Given the description of an element on the screen output the (x, y) to click on. 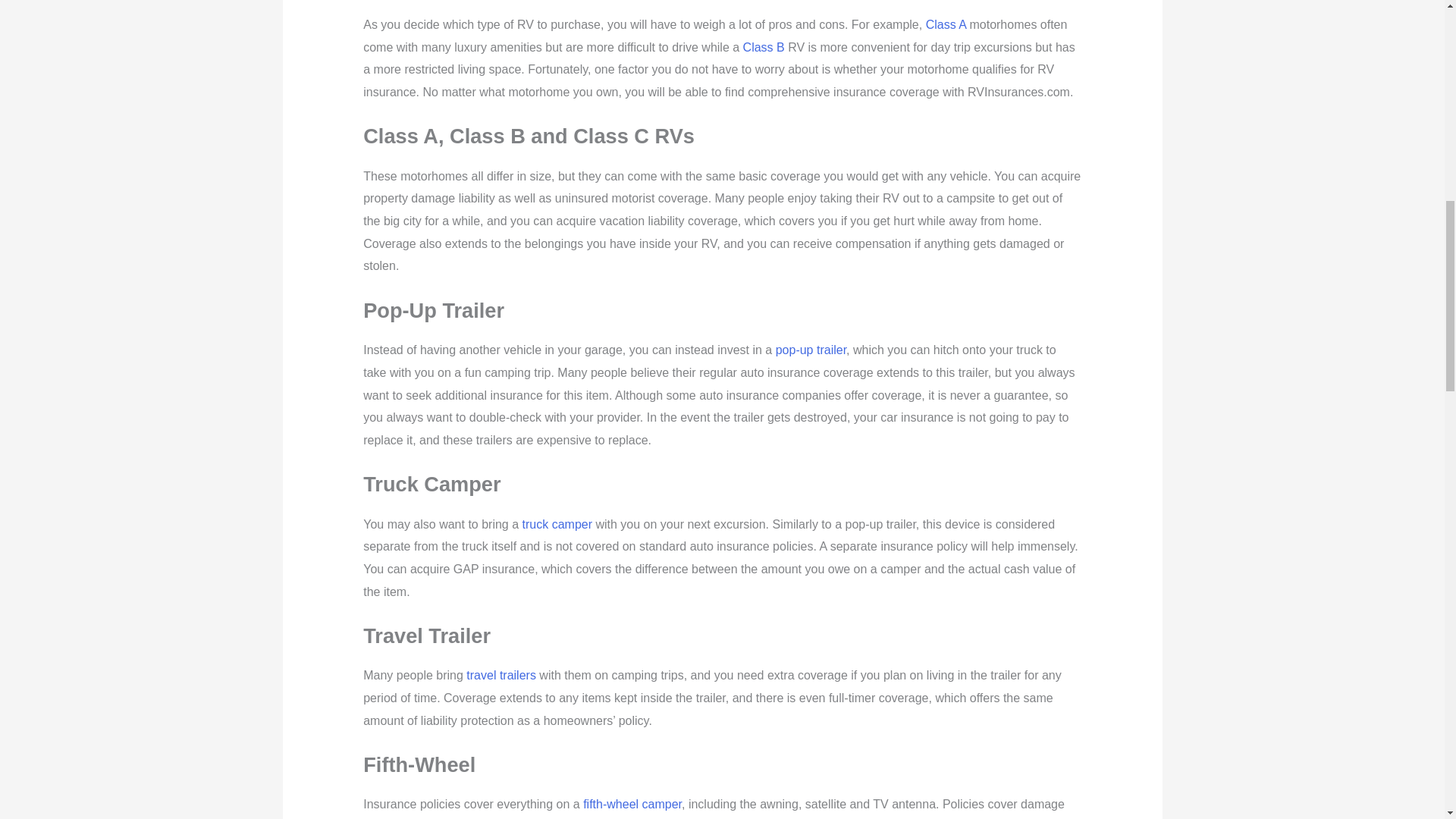
pop-up trailer (810, 349)
Class A (946, 24)
truck camper (557, 523)
fifth-wheel camper (632, 803)
Class B (763, 47)
travel trailers (500, 675)
